Given the description of an element on the screen output the (x, y) to click on. 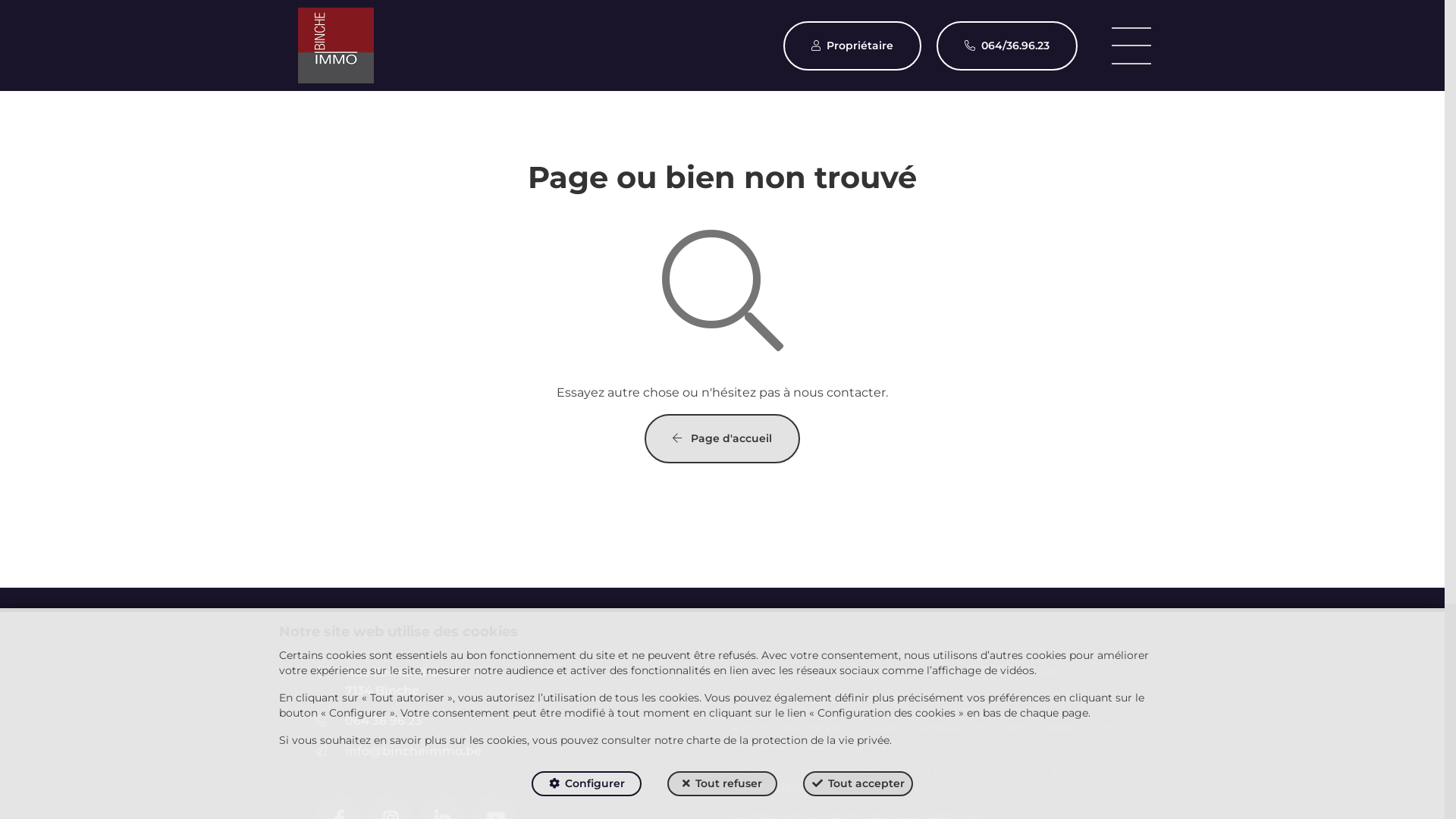
info@bincheimmo.be Element type: text (412, 750)
Configurer Element type: text (586, 783)
Tout refuser Element type: text (722, 783)
064 36 96 23 Element type: text (382, 720)
064/36.96.23 Element type: text (1005, 45)
Page d'accueil Element type: text (722, 438)
Tout accepter Element type: text (858, 783)
